Given the description of an element on the screen output the (x, y) to click on. 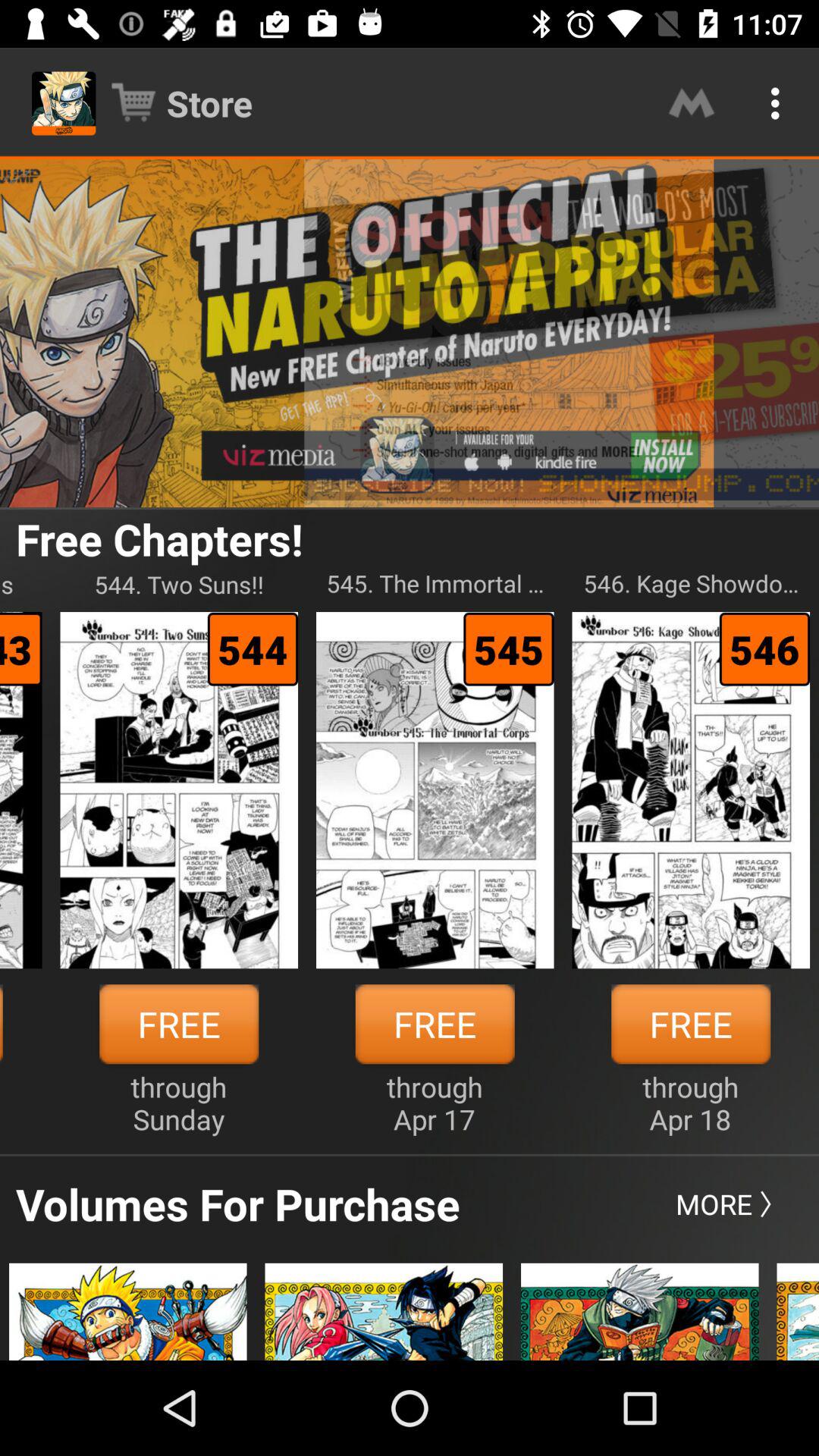
select icon next to  store icon (691, 103)
